Given the description of an element on the screen output the (x, y) to click on. 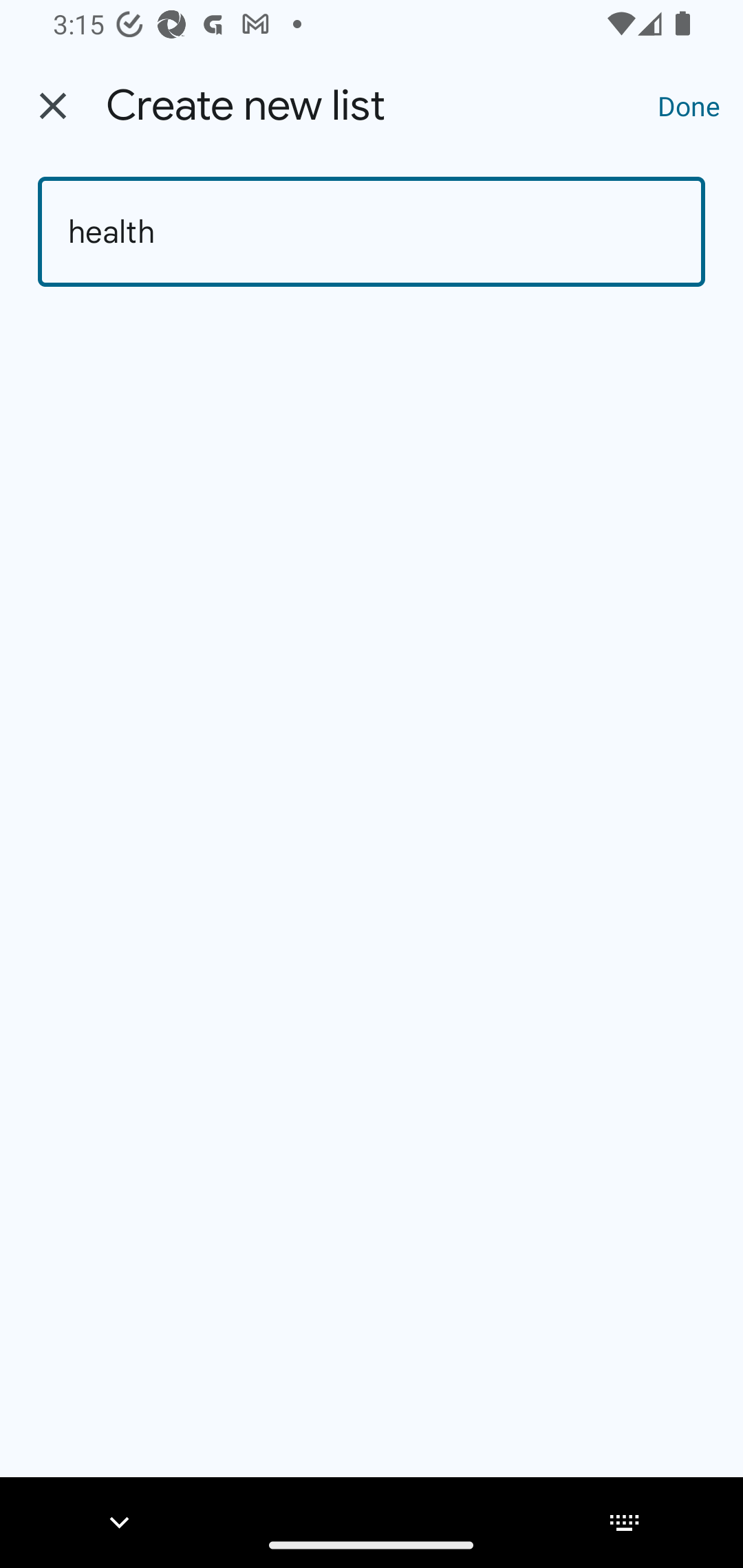
Back (53, 105)
Done (689, 105)
health (371, 231)
